Given the description of an element on the screen output the (x, y) to click on. 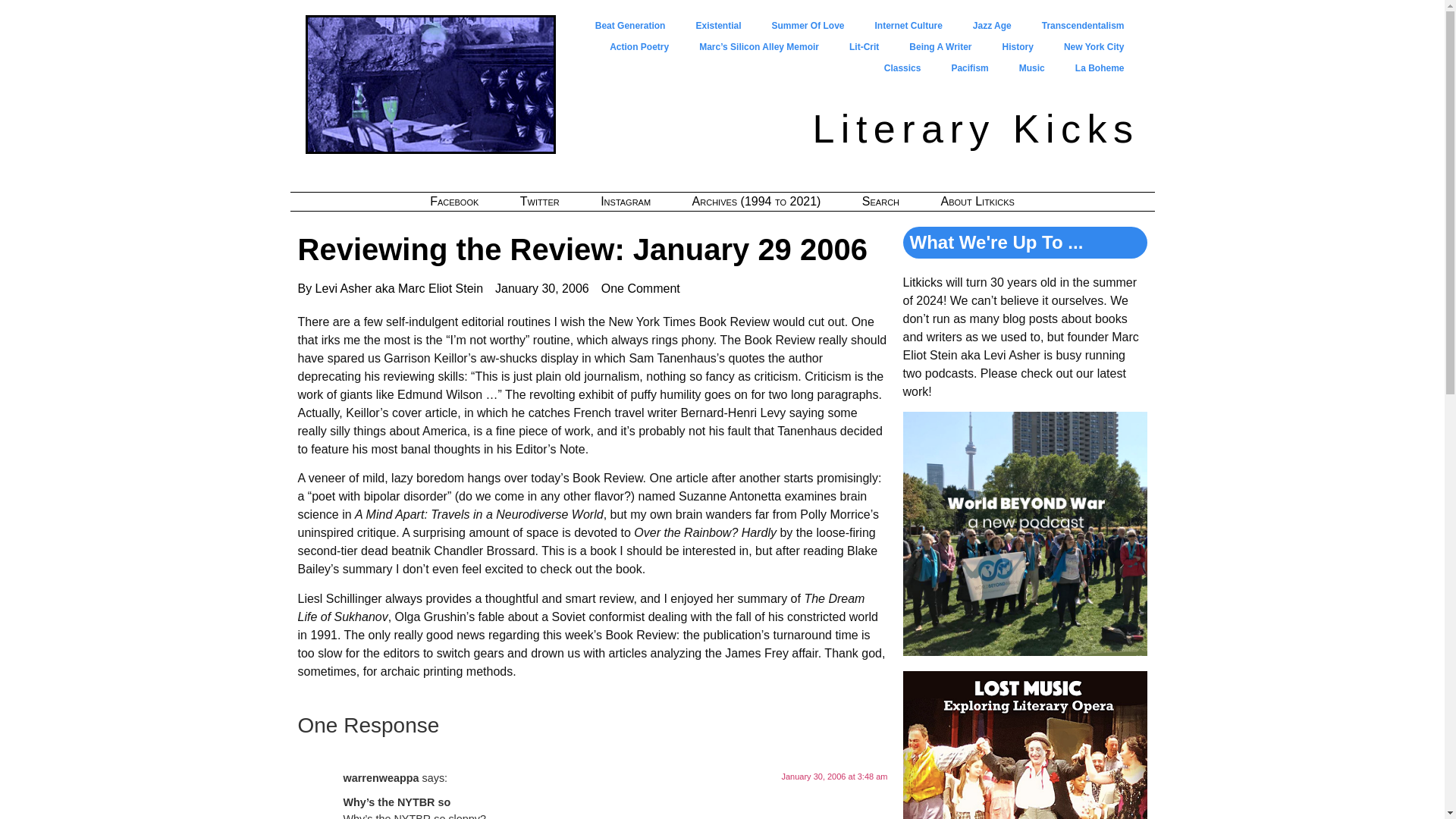
New York City (1094, 46)
Action Poetry (639, 46)
Being A Writer (940, 46)
La Boheme (1099, 67)
Internet Culture (909, 25)
Jazz Age (992, 25)
Lit-Crit (863, 46)
Music (1031, 67)
Literary Kicks (975, 128)
History (1017, 46)
Classics (902, 67)
Transcendentalism (1083, 25)
Beat Generation (630, 25)
Summer Of Love (807, 25)
Existential (717, 25)
